Given the description of an element on the screen output the (x, y) to click on. 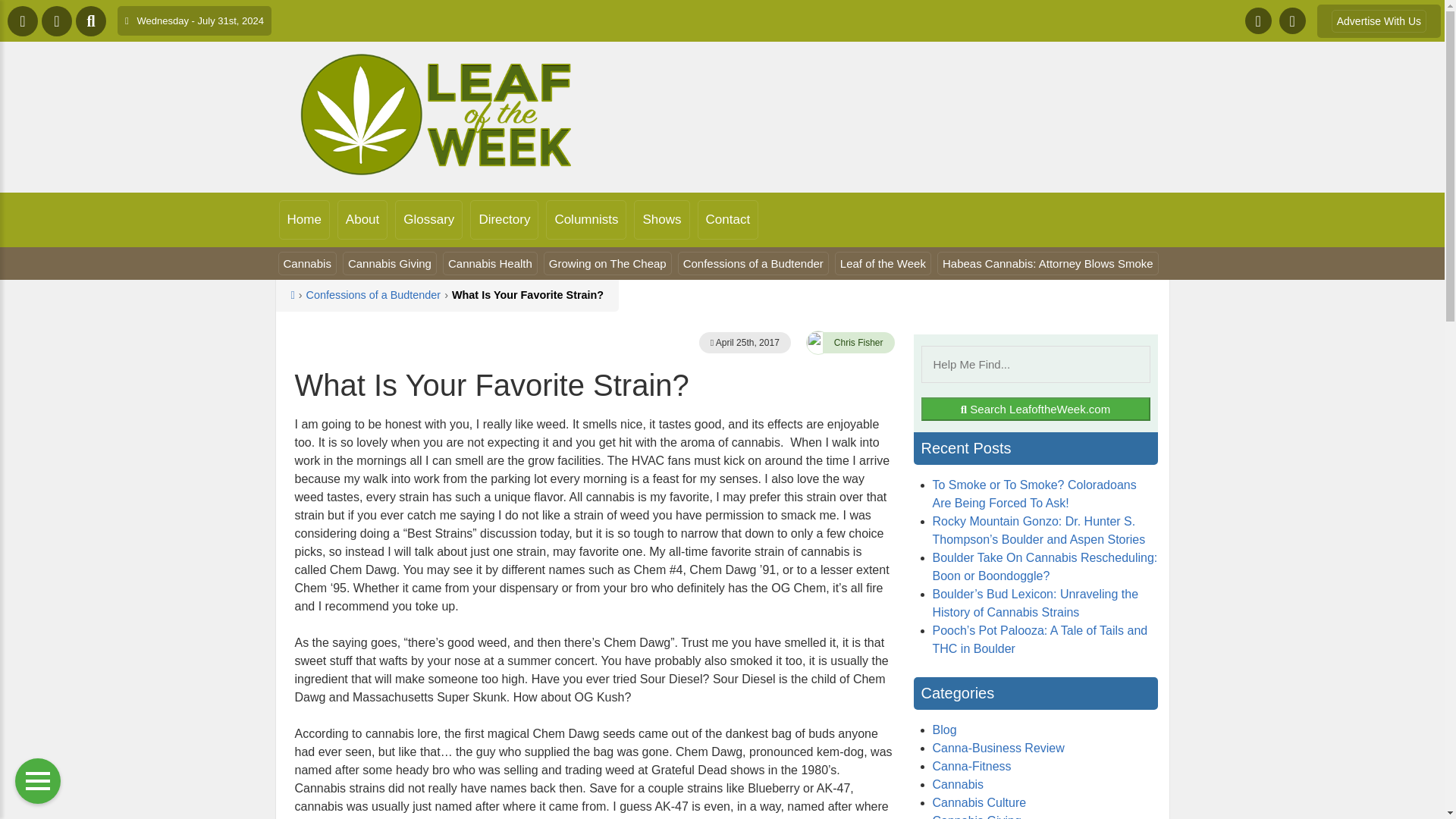
Glossary (428, 219)
Leaf of the Week (439, 114)
Confessions of a Budtender (753, 263)
Habeas Cannabis: Attorney Blows Smoke (1047, 263)
Shows (660, 219)
Cannabis (307, 263)
Confessions of a Budtender (373, 295)
Growing on The Cheap (607, 263)
X-twitter (1292, 20)
Chris Fisher (858, 342)
Cannabis Health (489, 263)
Directory (504, 219)
Columnists (586, 219)
Leaf of the Week (882, 263)
Advertise With Us (1379, 20)
